Given the description of an element on the screen output the (x, y) to click on. 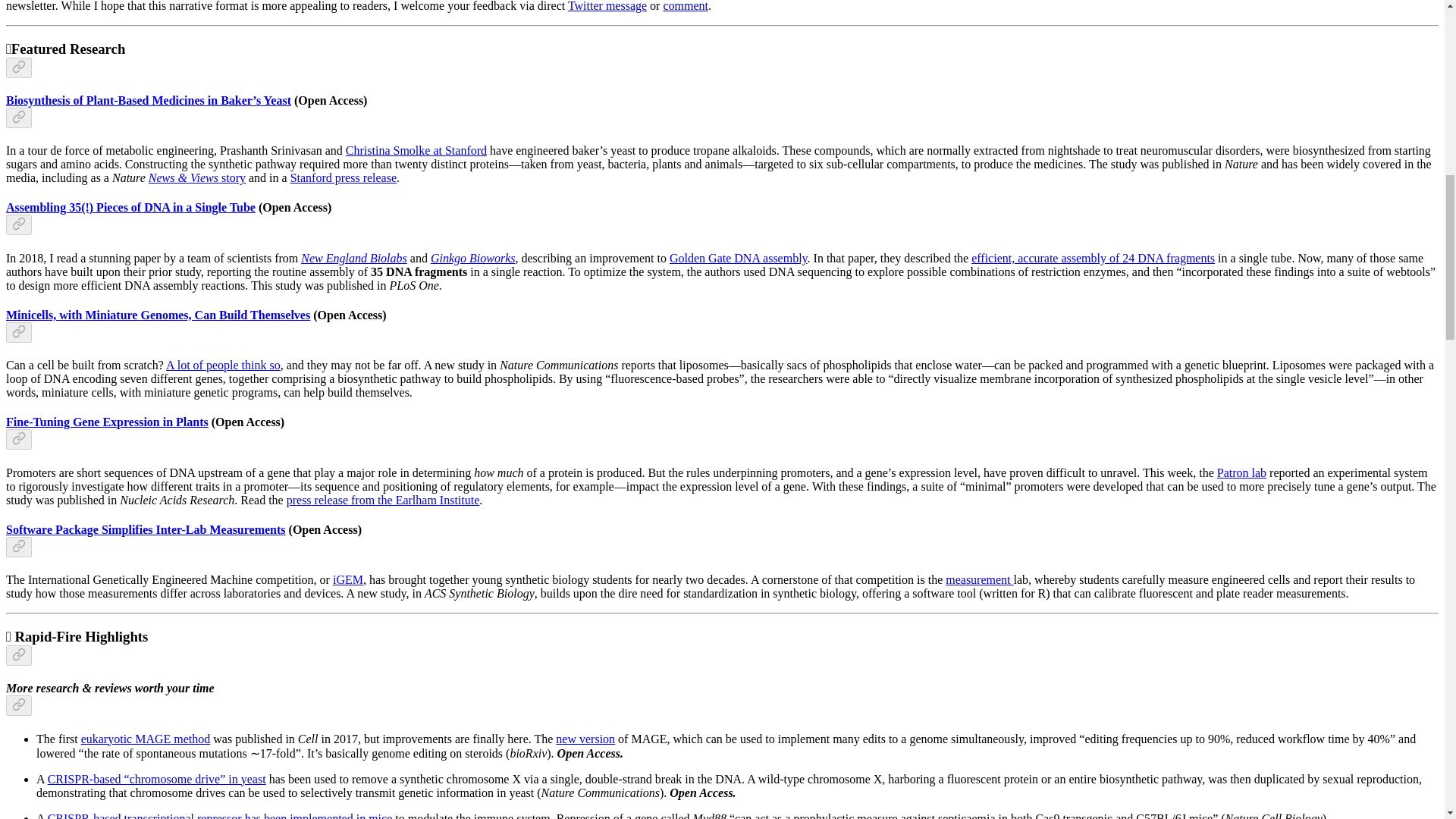
Golden Gate DNA assembly (738, 257)
Christina Smolke at Stanford (416, 150)
comment (684, 6)
New England Biolabs (354, 257)
Twitter message (606, 6)
Stanford press release (342, 177)
story (233, 177)
Ginkgo Bioworks (472, 257)
